Given the description of an element on the screen output the (x, y) to click on. 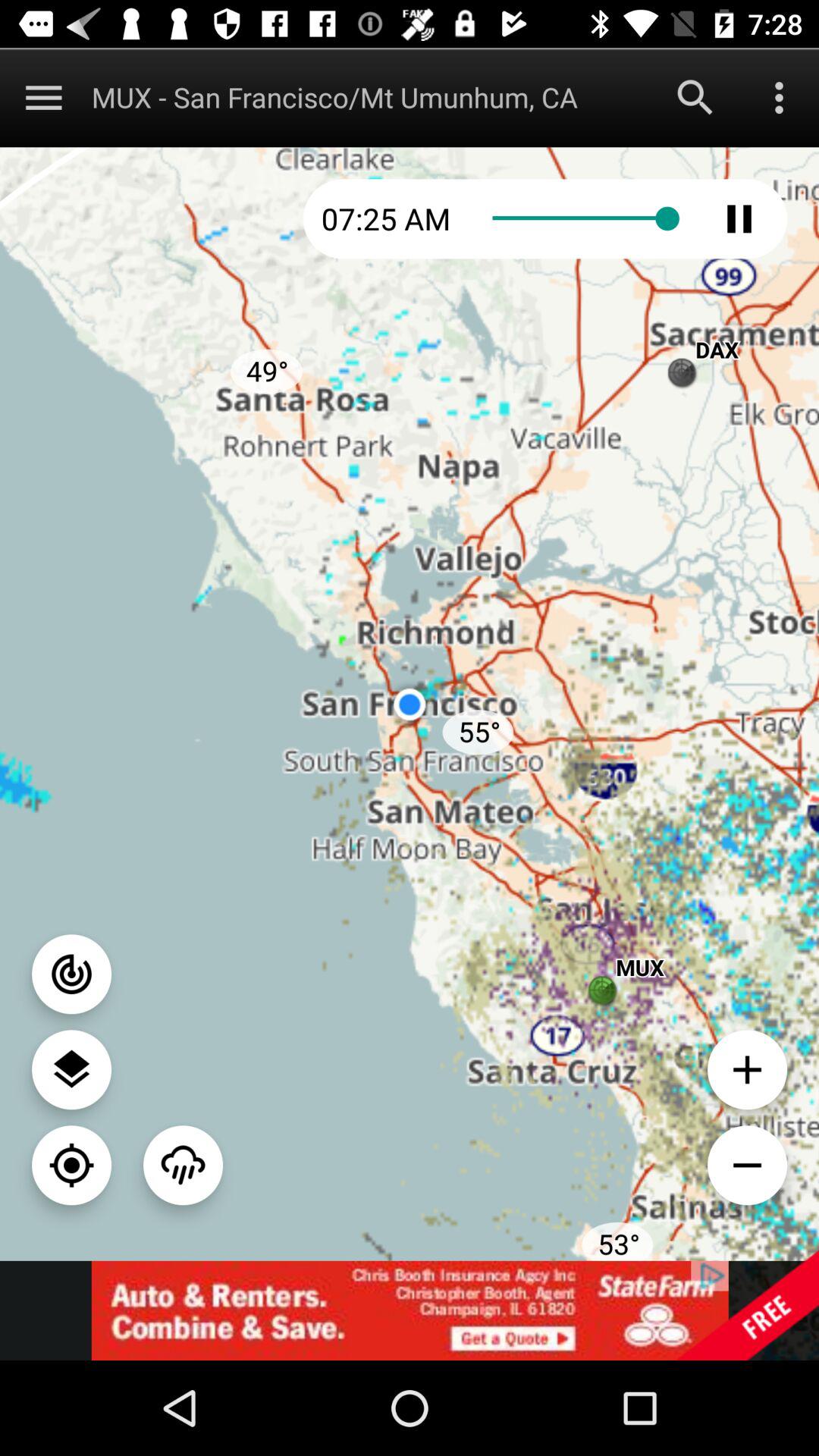
current location (71, 1165)
